Given the description of an element on the screen output the (x, y) to click on. 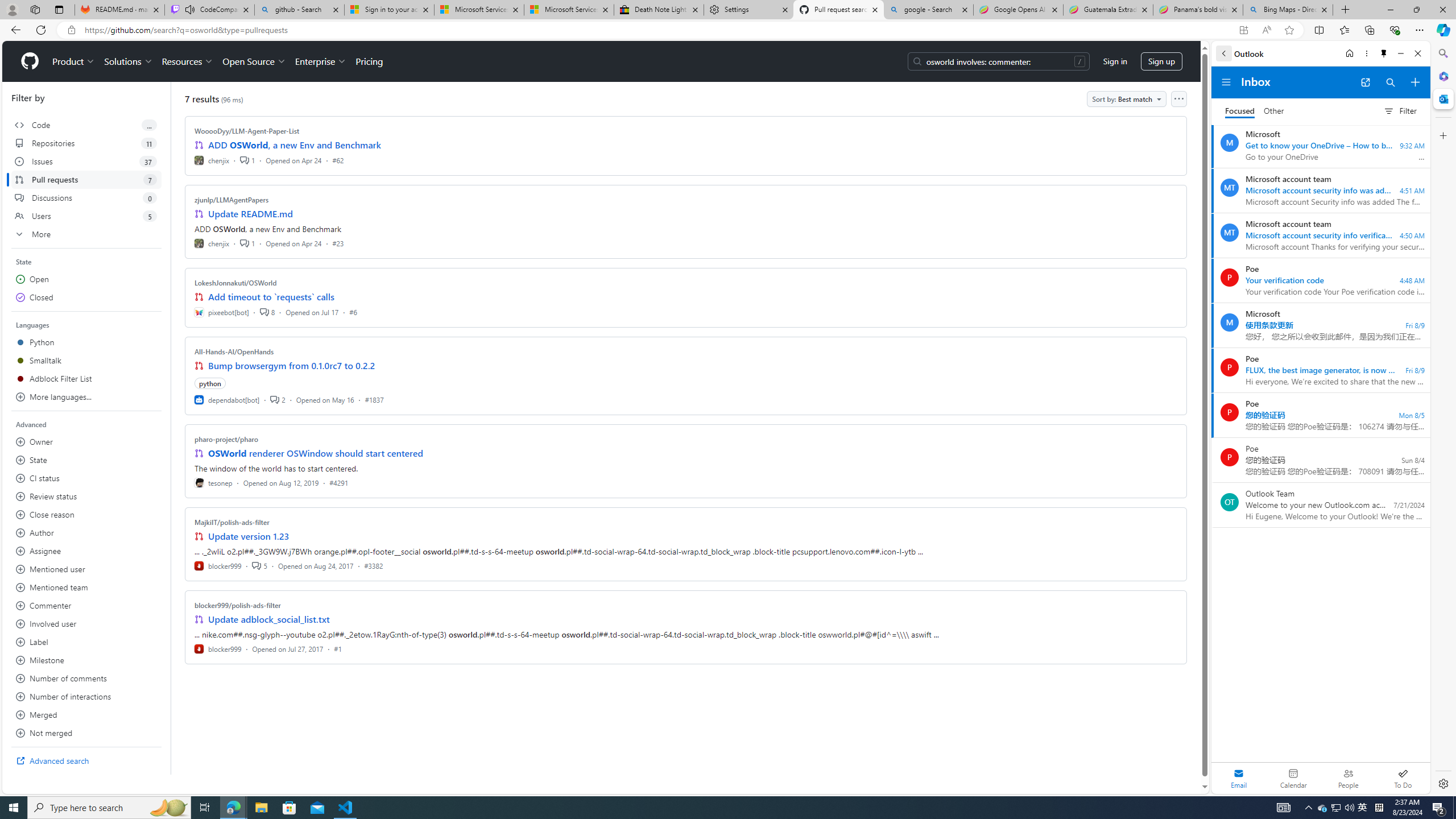
All-Hands-AI/OpenHands (234, 351)
1 (246, 242)
Homepage (29, 61)
pixeebot[bot] (221, 311)
#1837 (374, 398)
Google Opens AI Academy for Startups - Nearshore Americas (1018, 9)
